Given the description of an element on the screen output the (x, y) to click on. 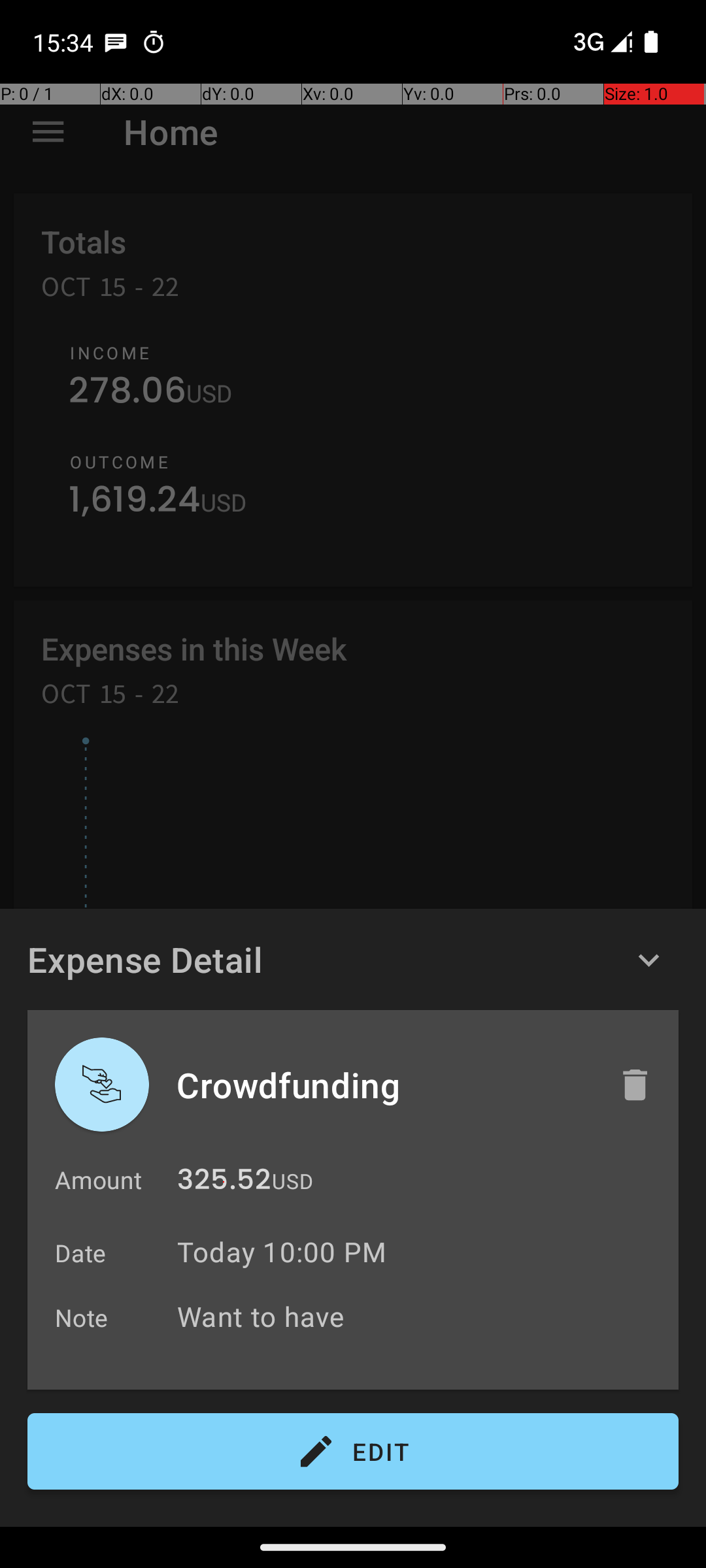
Crowdfunding Element type: android.widget.TextView (383, 1084)
325.52 Element type: android.widget.TextView (223, 1182)
